Given the description of an element on the screen output the (x, y) to click on. 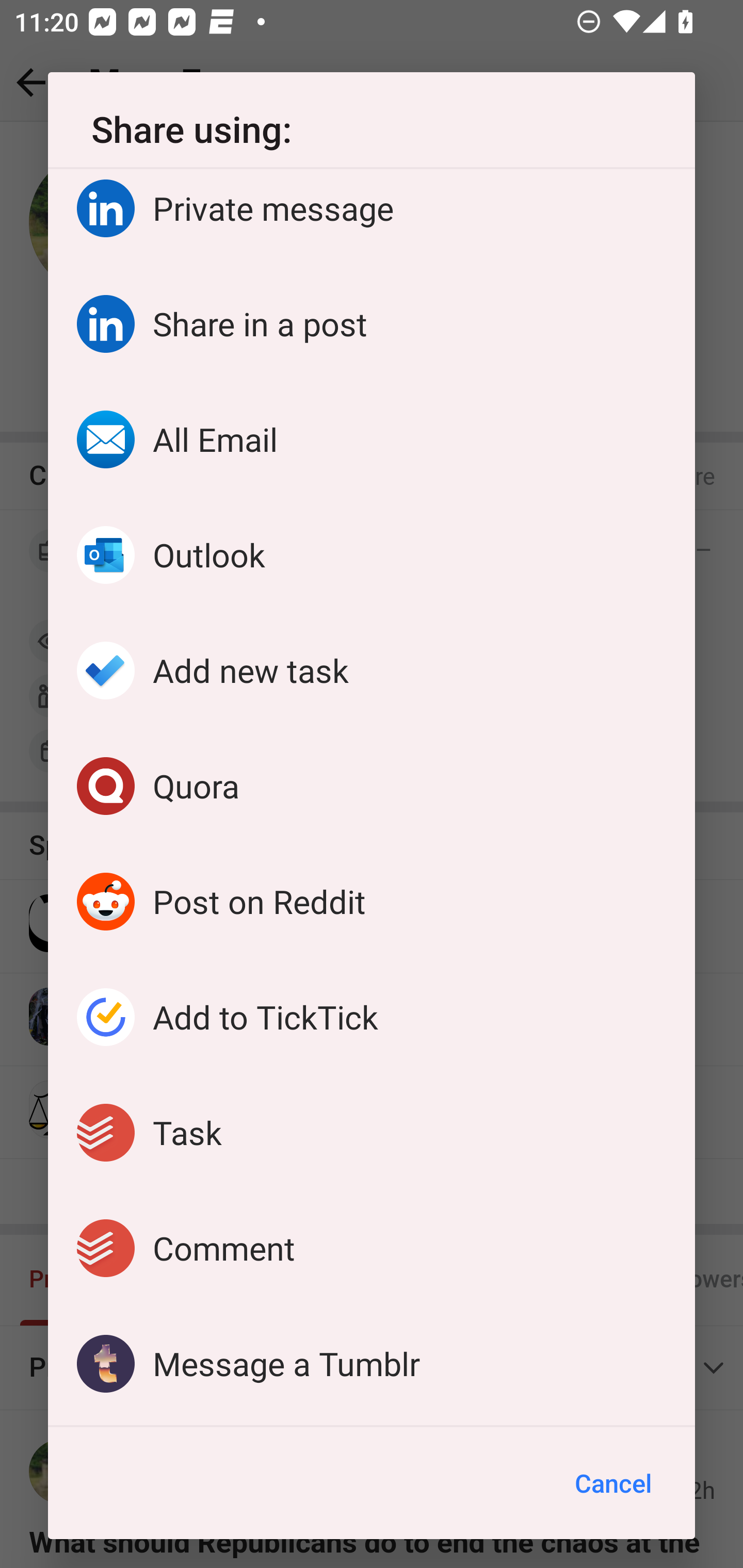
Private message (371, 216)
Share in a post (371, 323)
All Email (371, 439)
Outlook (371, 555)
Add new task (371, 670)
Quora (371, 785)
Post on Reddit (371, 901)
Add to TickTick (371, 1017)
Task (371, 1132)
Comment (371, 1248)
Message a Tumblr (371, 1364)
Cancel (612, 1482)
